Given the description of an element on the screen output the (x, y) to click on. 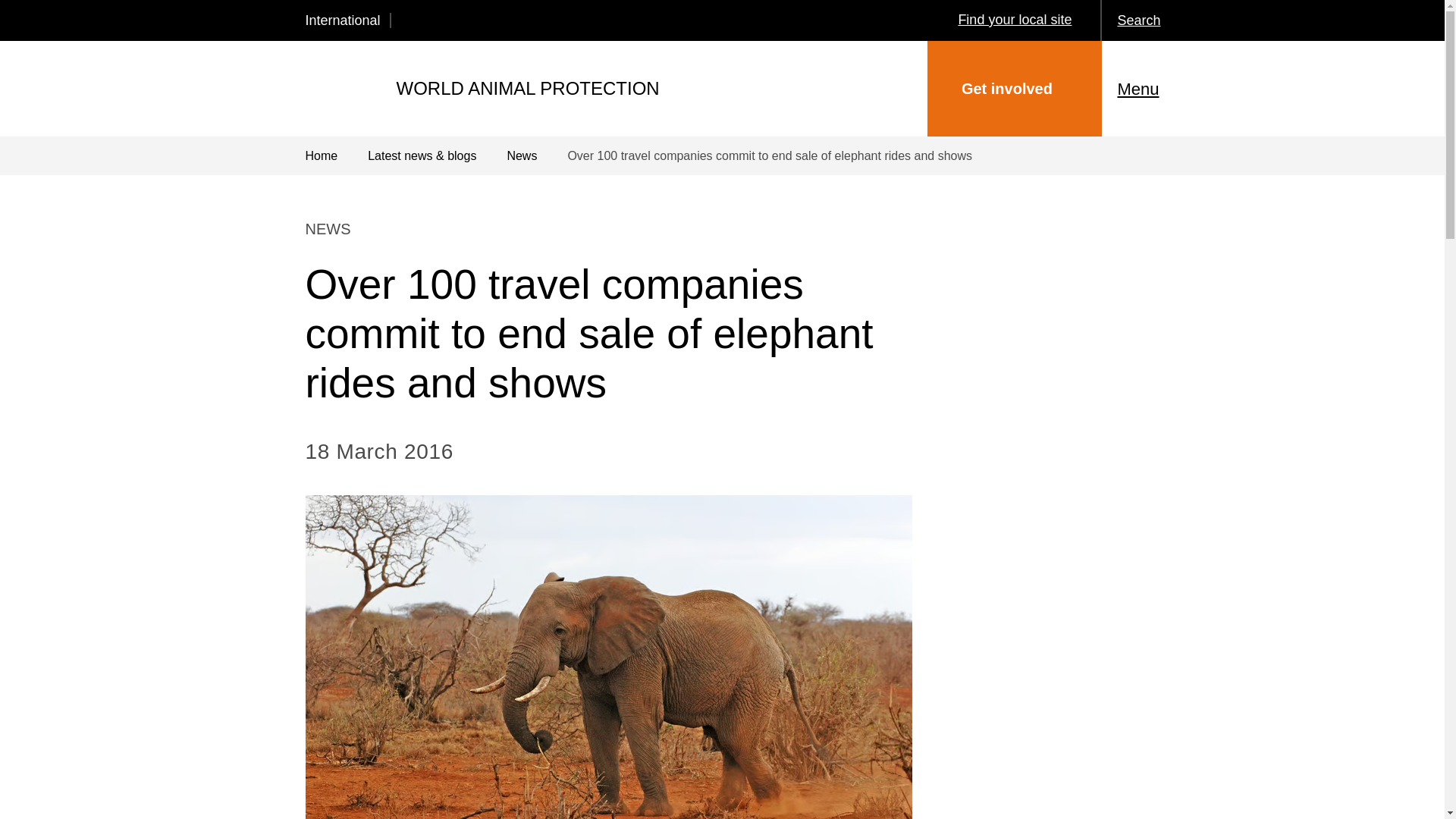
Find your local site (1014, 20)
WORLD ANIMAL PROTECTION (481, 88)
Get involved (1014, 88)
Home (336, 155)
Menu (1154, 88)
News (536, 155)
Find out how you can get involved (1014, 88)
Find your local site (1014, 20)
Search (1154, 20)
